Given the description of an element on the screen output the (x, y) to click on. 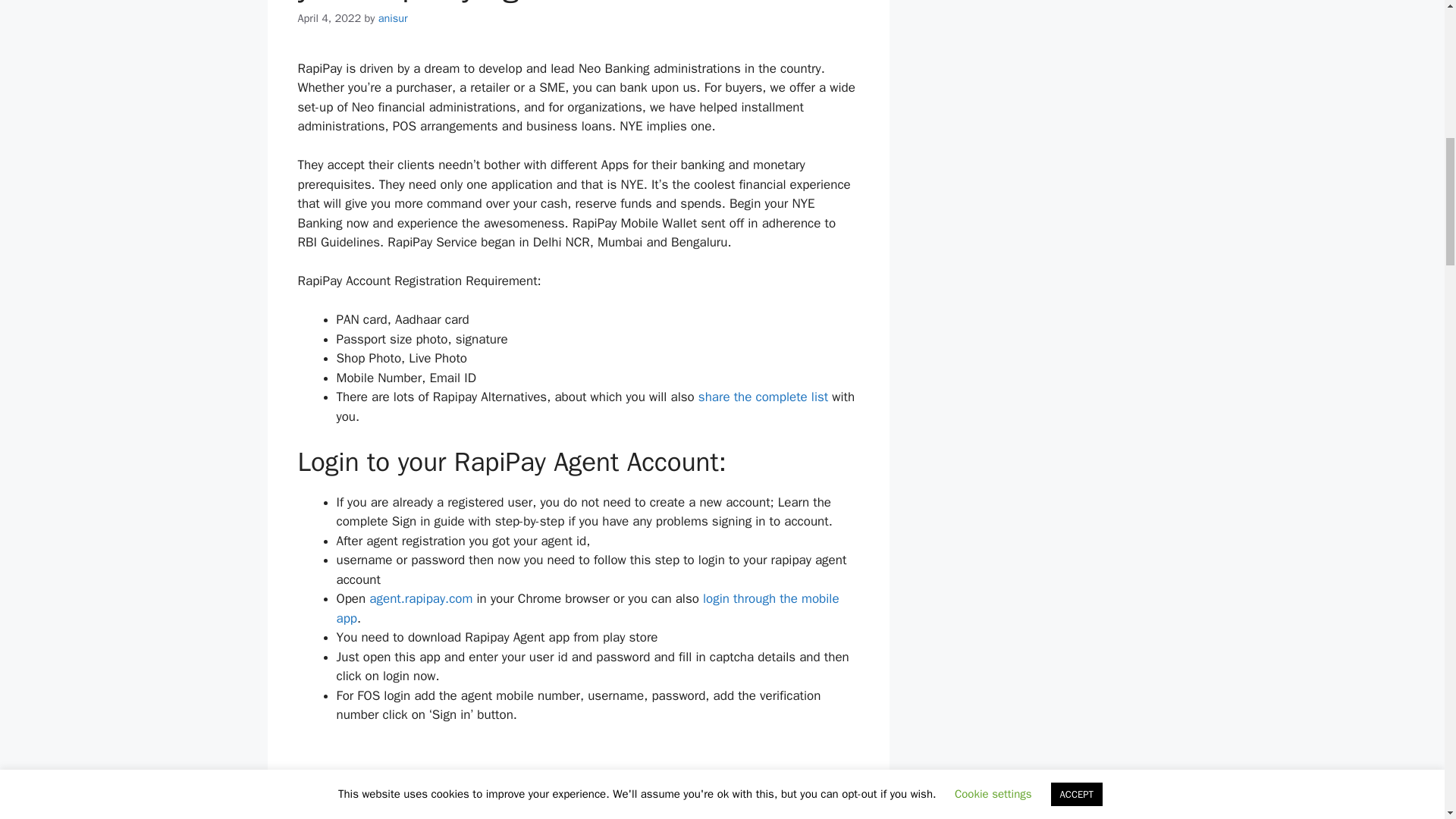
share the complete list (763, 396)
agent.rapipay.com (420, 598)
login through the mobile app (588, 608)
View all posts by anisur (392, 18)
anisur (392, 18)
